Given the description of an element on the screen output the (x, y) to click on. 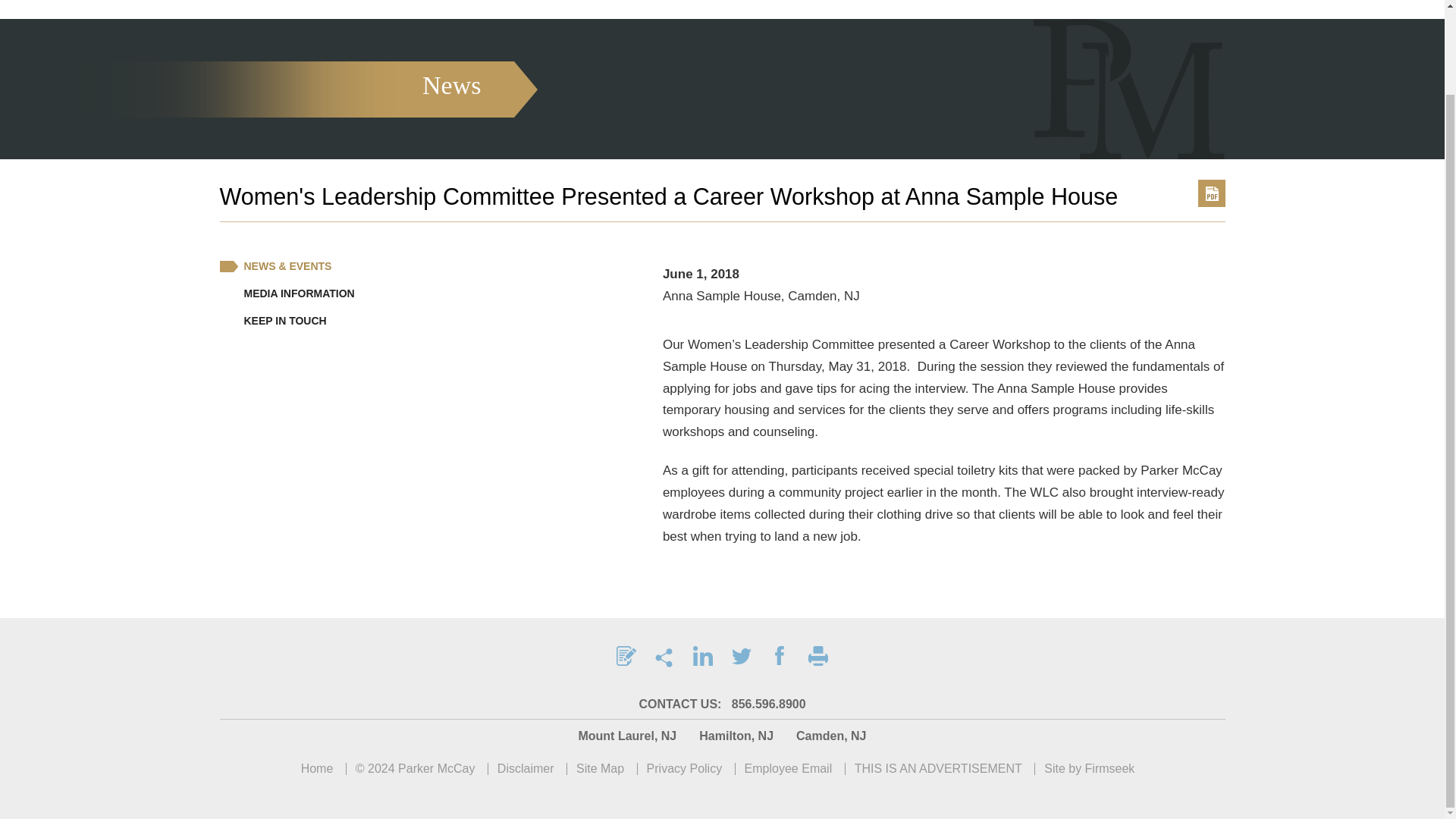
Print PDF (1211, 193)
Sign Up (626, 655)
Share (664, 655)
Twitter (741, 655)
MEDIA INFORMATION (287, 293)
KEEP IN TOUCH (272, 320)
Print (817, 655)
Facebook (779, 655)
LinkedIn (702, 655)
